Given the description of an element on the screen output the (x, y) to click on. 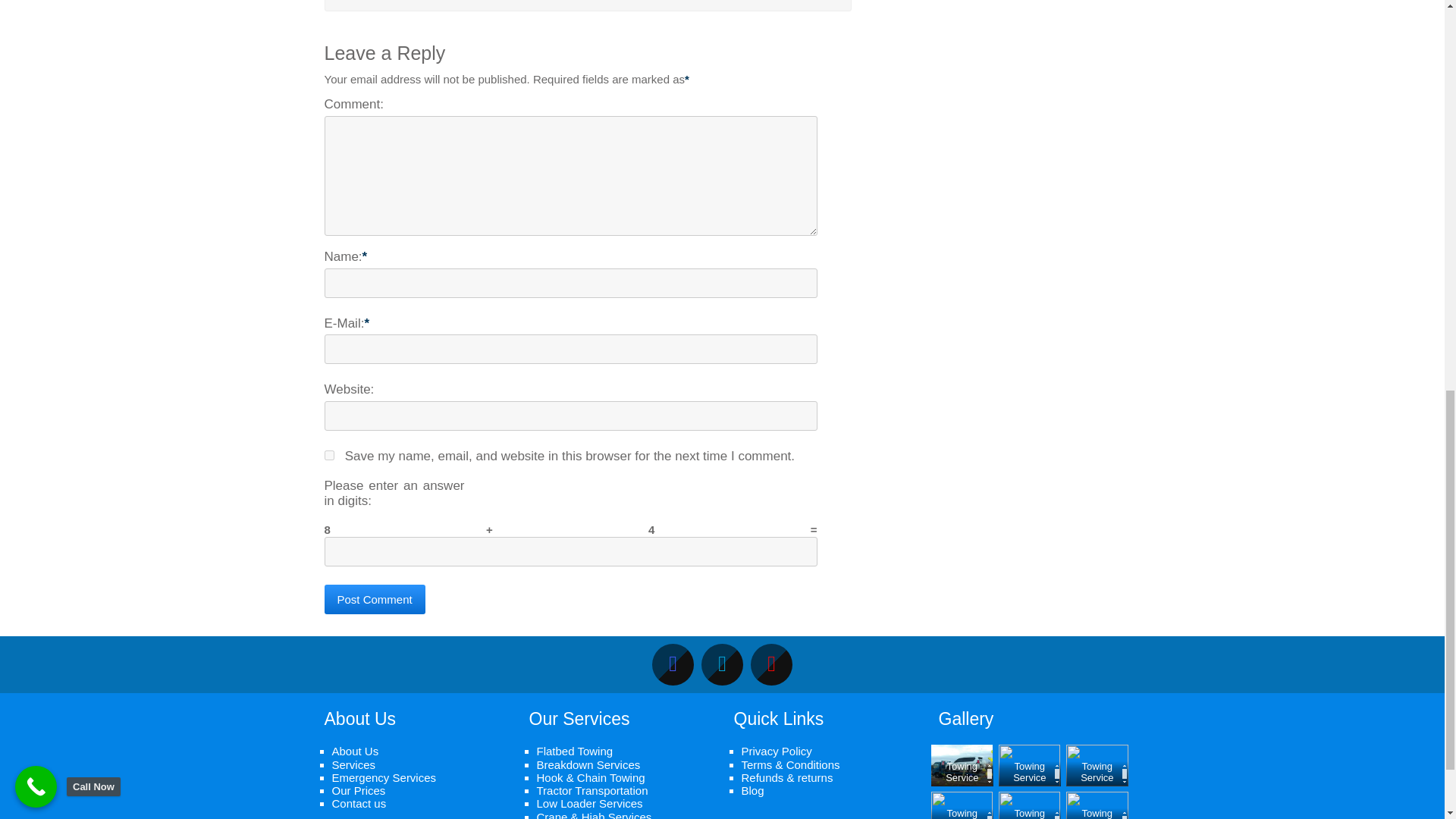
yes (329, 455)
Post Comment (374, 599)
Post Comment (374, 599)
